Given the description of an element on the screen output the (x, y) to click on. 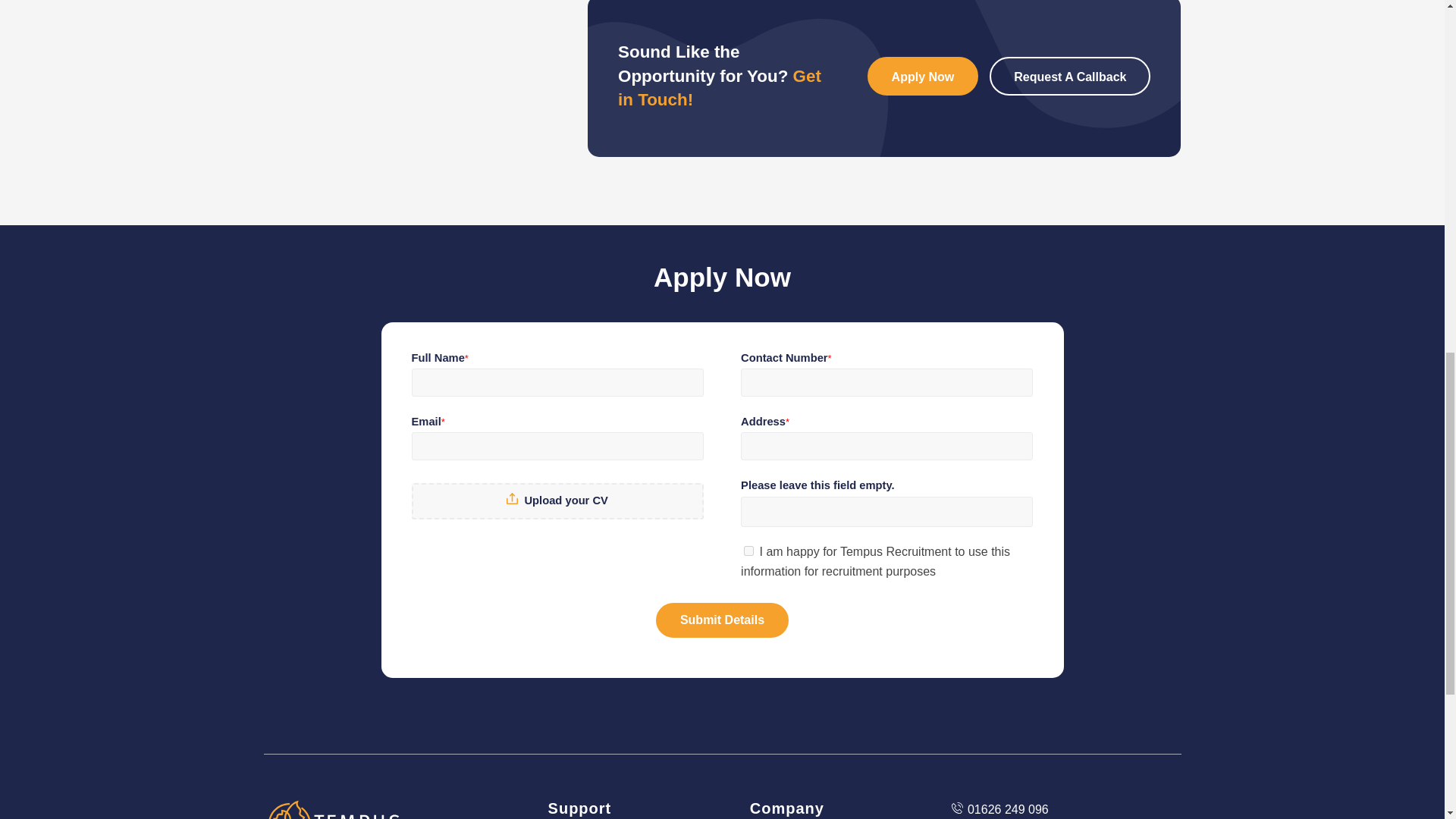
Submit Details (722, 620)
Submit Details (722, 620)
Apply Now (922, 75)
Request A Callback (1070, 75)
1 (749, 551)
